Given the description of an element on the screen output the (x, y) to click on. 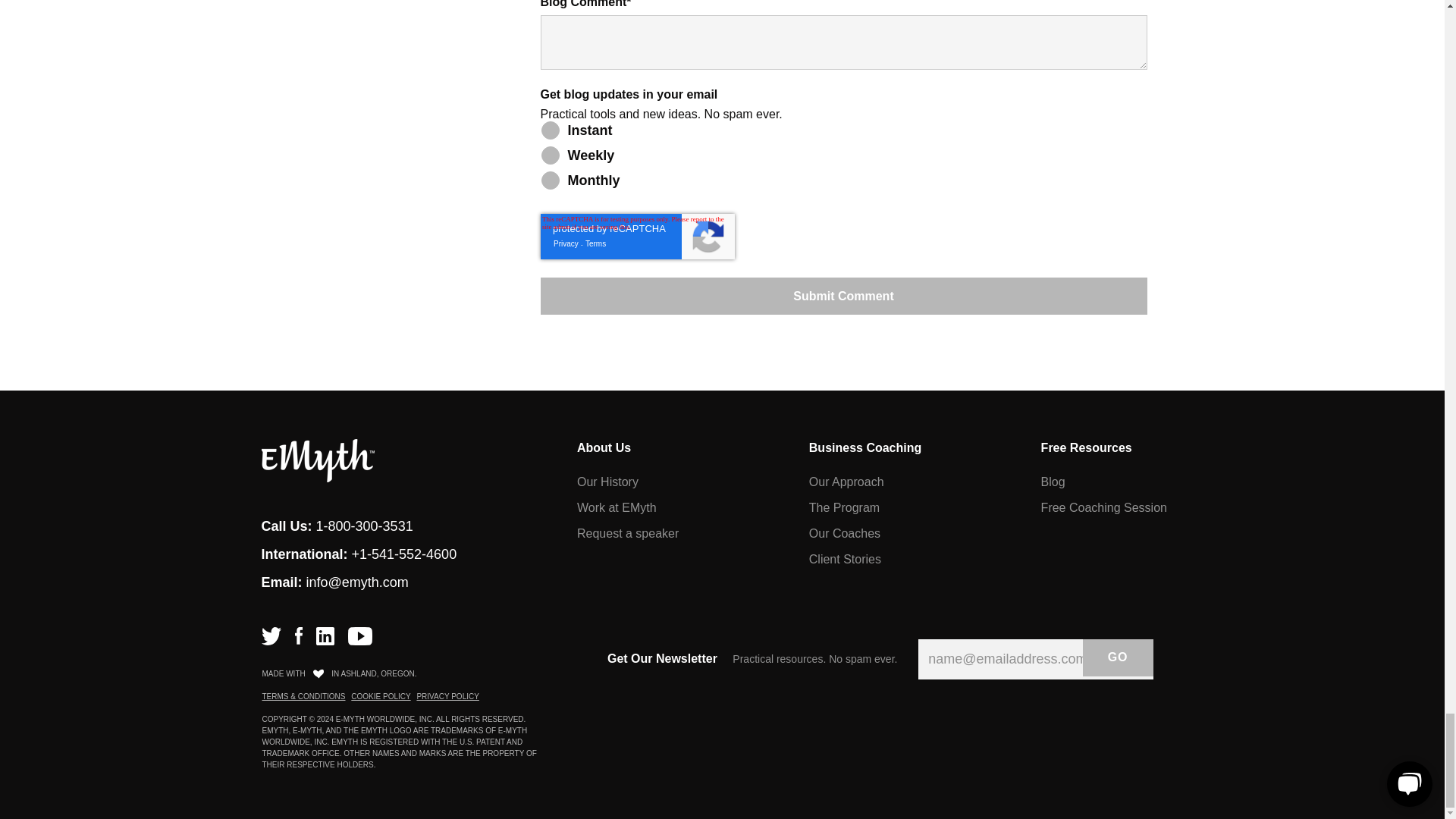
Submit Comment (843, 295)
reCAPTCHA (636, 236)
GO (1118, 657)
